Given the description of an element on the screen output the (x, y) to click on. 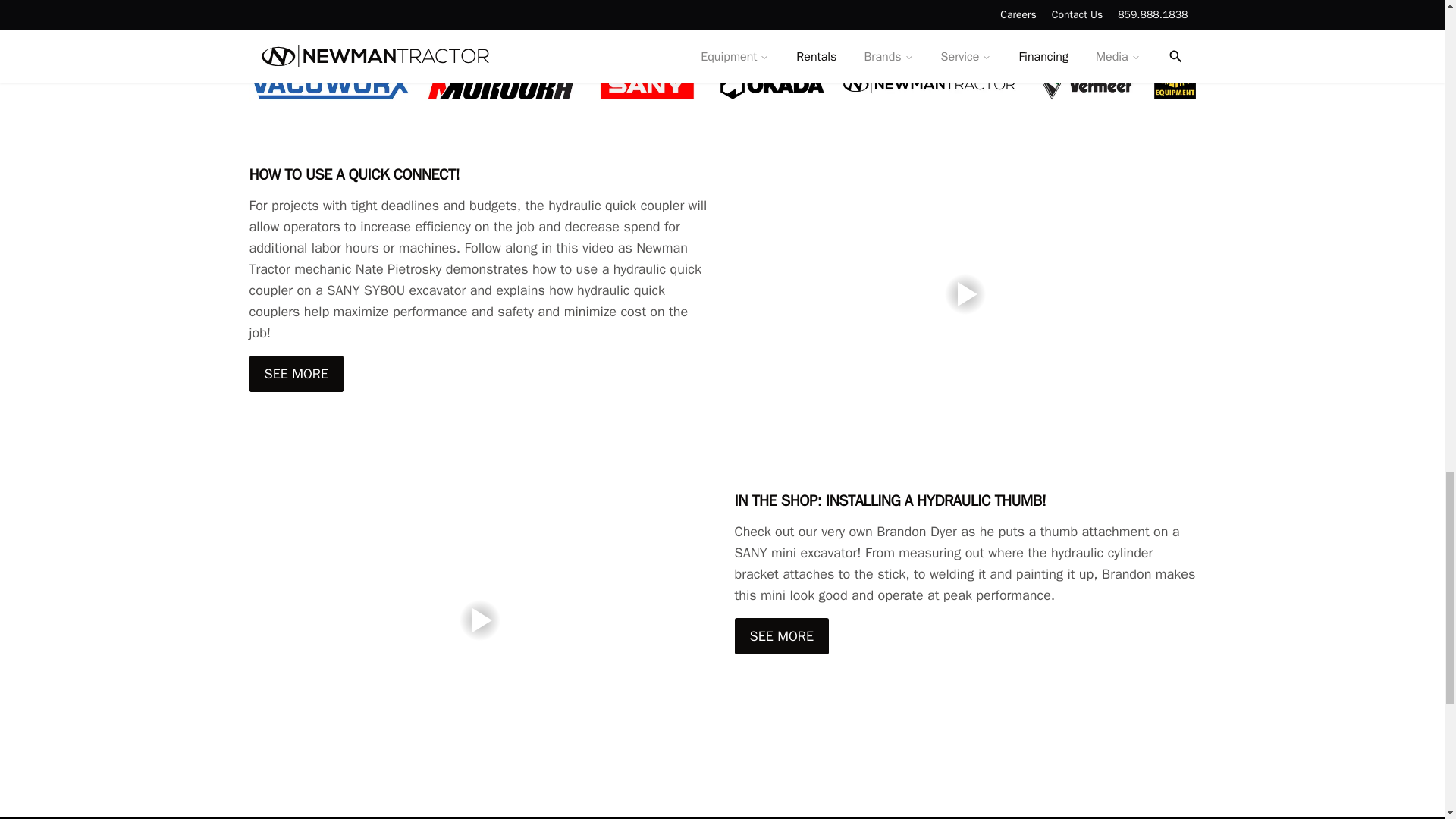
SEE MORE (295, 373)
IN THE SHOP: INSTALLING A HYDRAULIC THUMB! (964, 500)
SEE MORE (780, 636)
HOW TO USE A QUICK CONNECT! (479, 174)
